Given the description of an element on the screen output the (x, y) to click on. 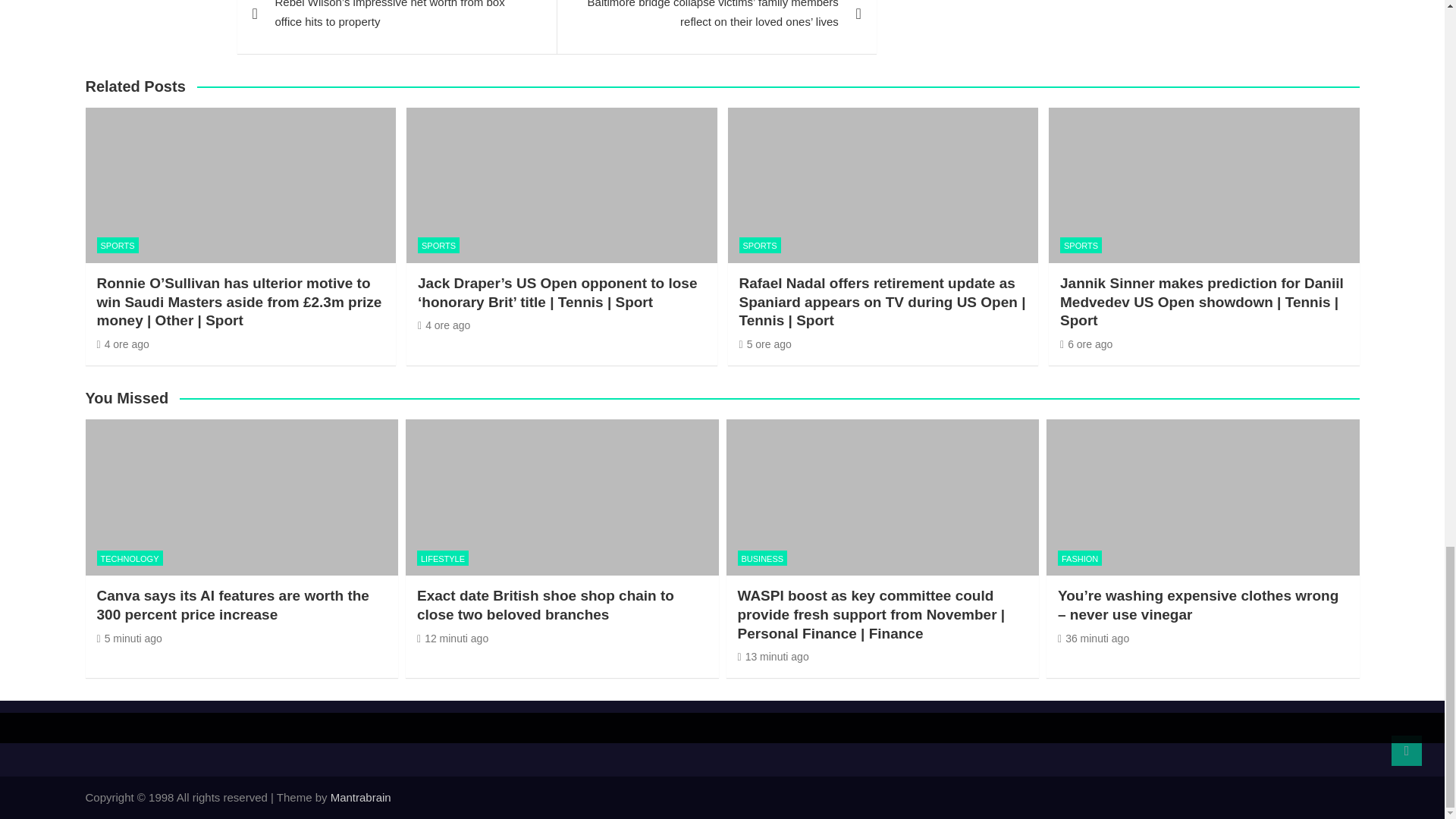
Mantrabrain (360, 797)
